Given the description of an element on the screen output the (x, y) to click on. 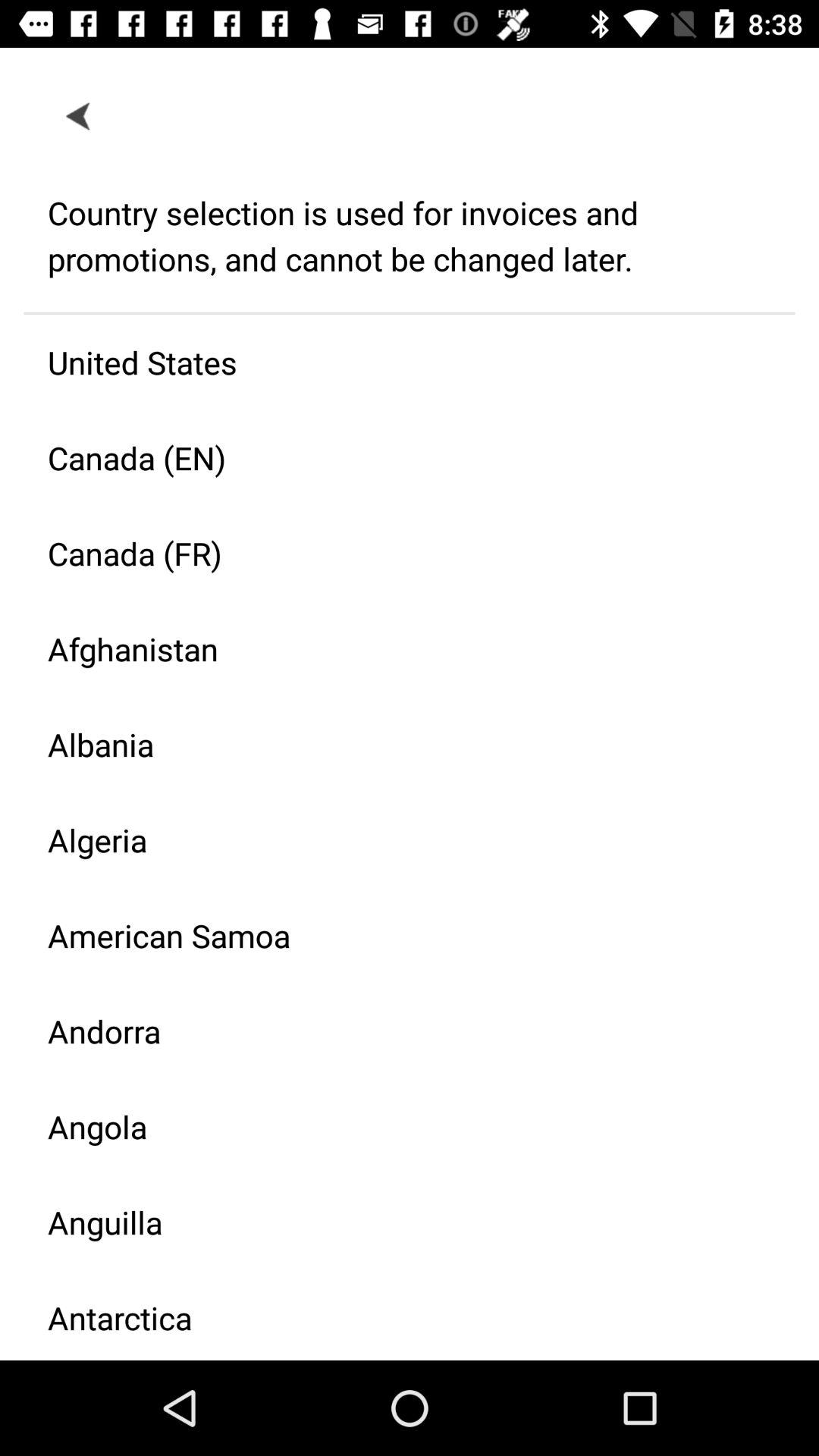
tap the item above anguilla icon (397, 1126)
